Given the description of an element on the screen output the (x, y) to click on. 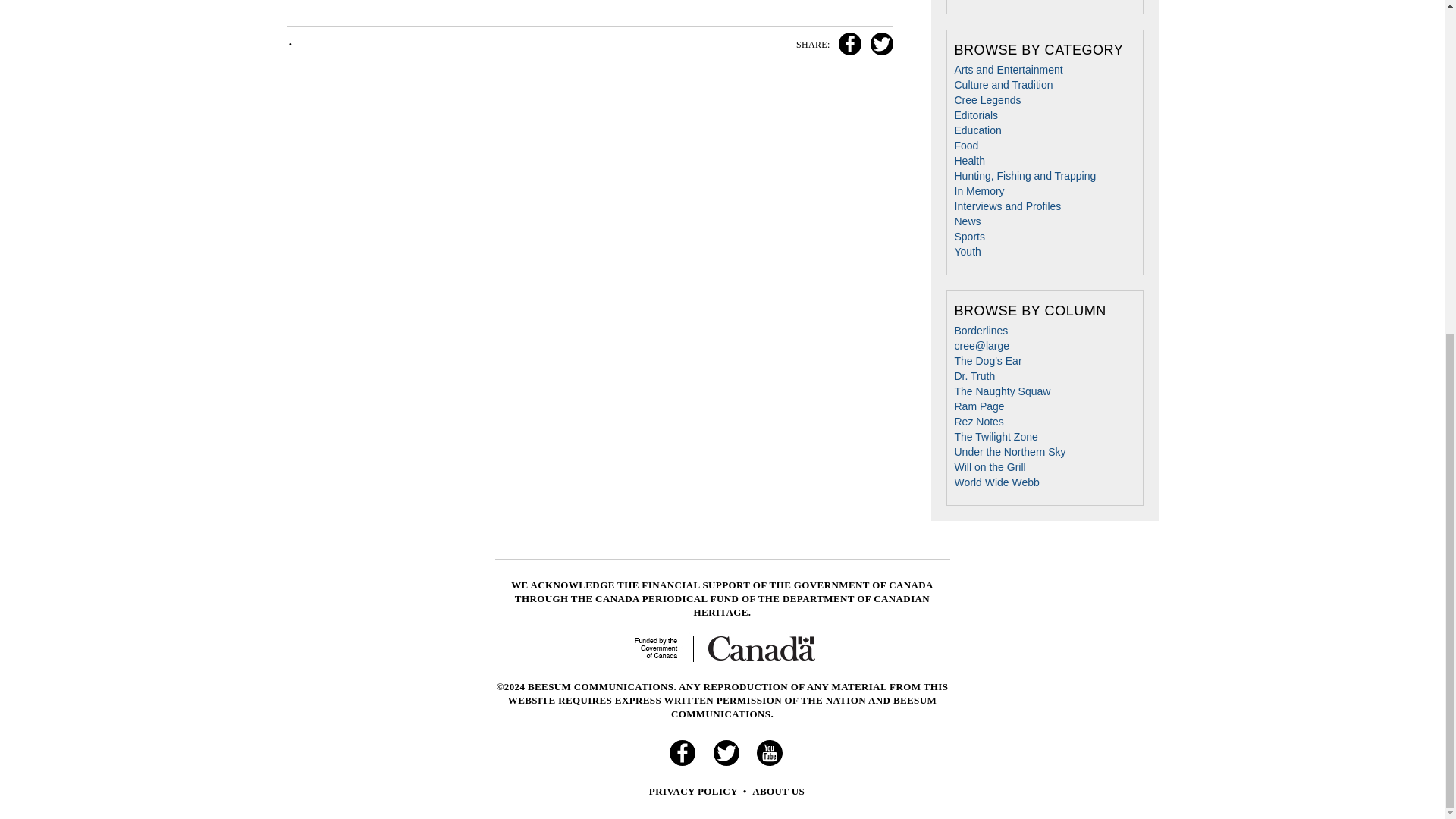
Culture and Tradition (1002, 84)
News (966, 221)
Food (965, 145)
Education (977, 130)
Arts and Entertainment (1007, 69)
Tweet This (878, 44)
In Memory (978, 191)
Cree Legends (986, 100)
Hunting, Fishing and Trapping (1024, 175)
Health (968, 160)
Interviews and Profiles (1007, 205)
Share on Facebook (847, 44)
Editorials (975, 114)
